Given the description of an element on the screen output the (x, y) to click on. 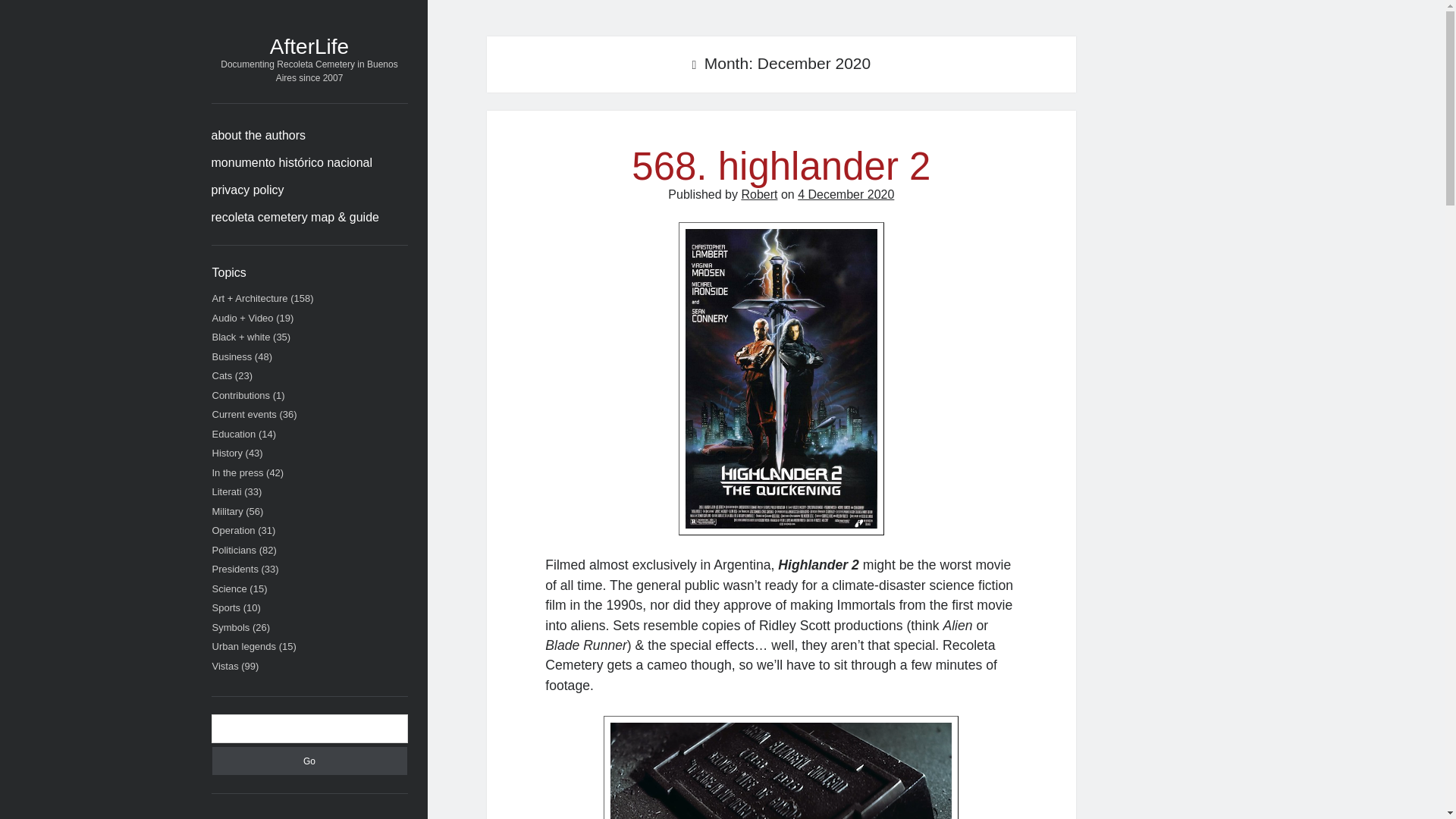
Military (227, 510)
Go (309, 760)
Sports (226, 607)
In the press (237, 472)
Politicians (234, 550)
4 December 2020 (845, 194)
Cats (222, 375)
Go (309, 760)
about the authors (258, 135)
Search for: (309, 728)
Robert (759, 194)
History (227, 452)
Education (234, 432)
Symbols (231, 627)
Contributions (241, 395)
